Given the description of an element on the screen output the (x, y) to click on. 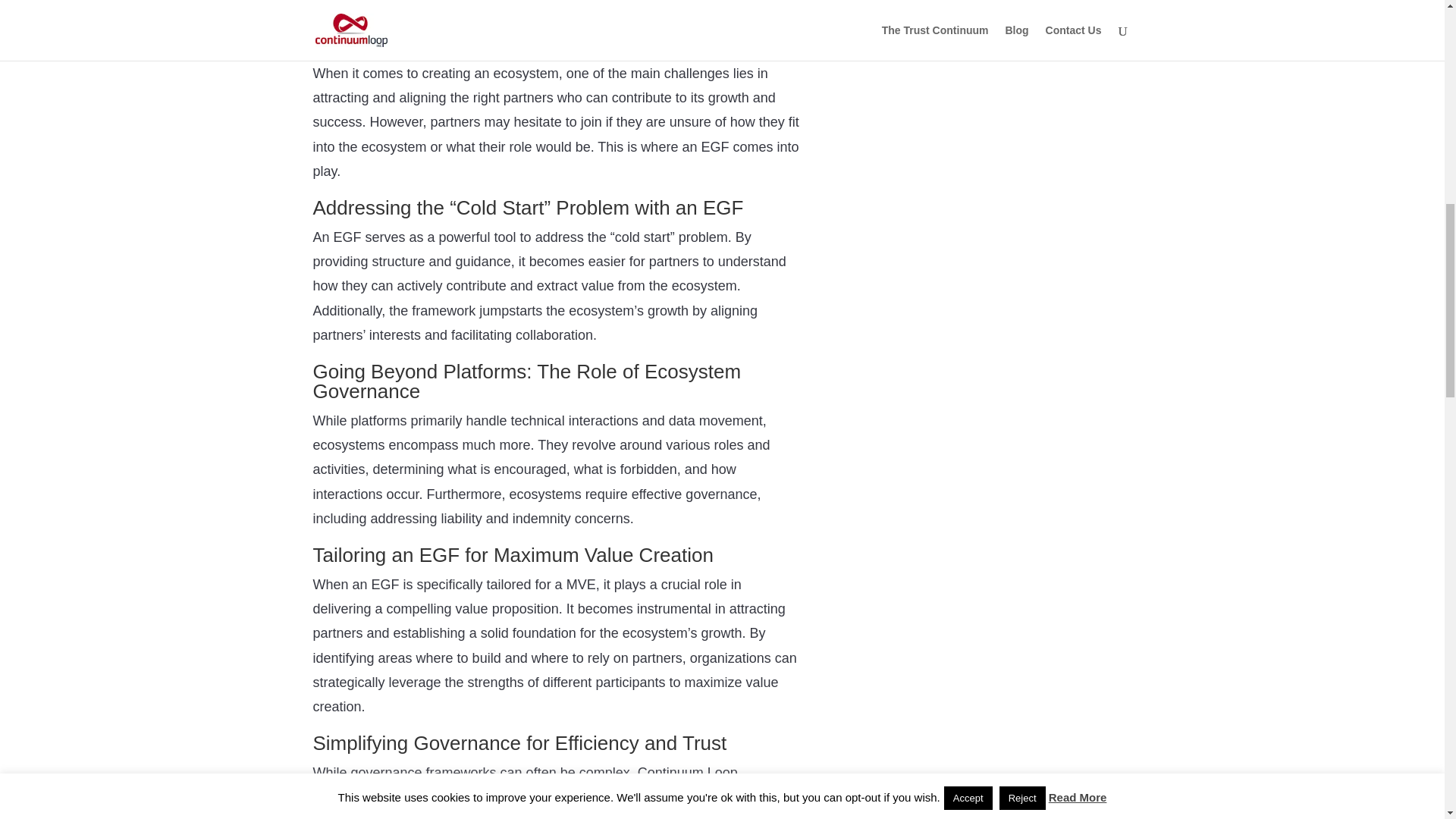
Watch Now! (555, 3)
